Given the description of an element on the screen output the (x, y) to click on. 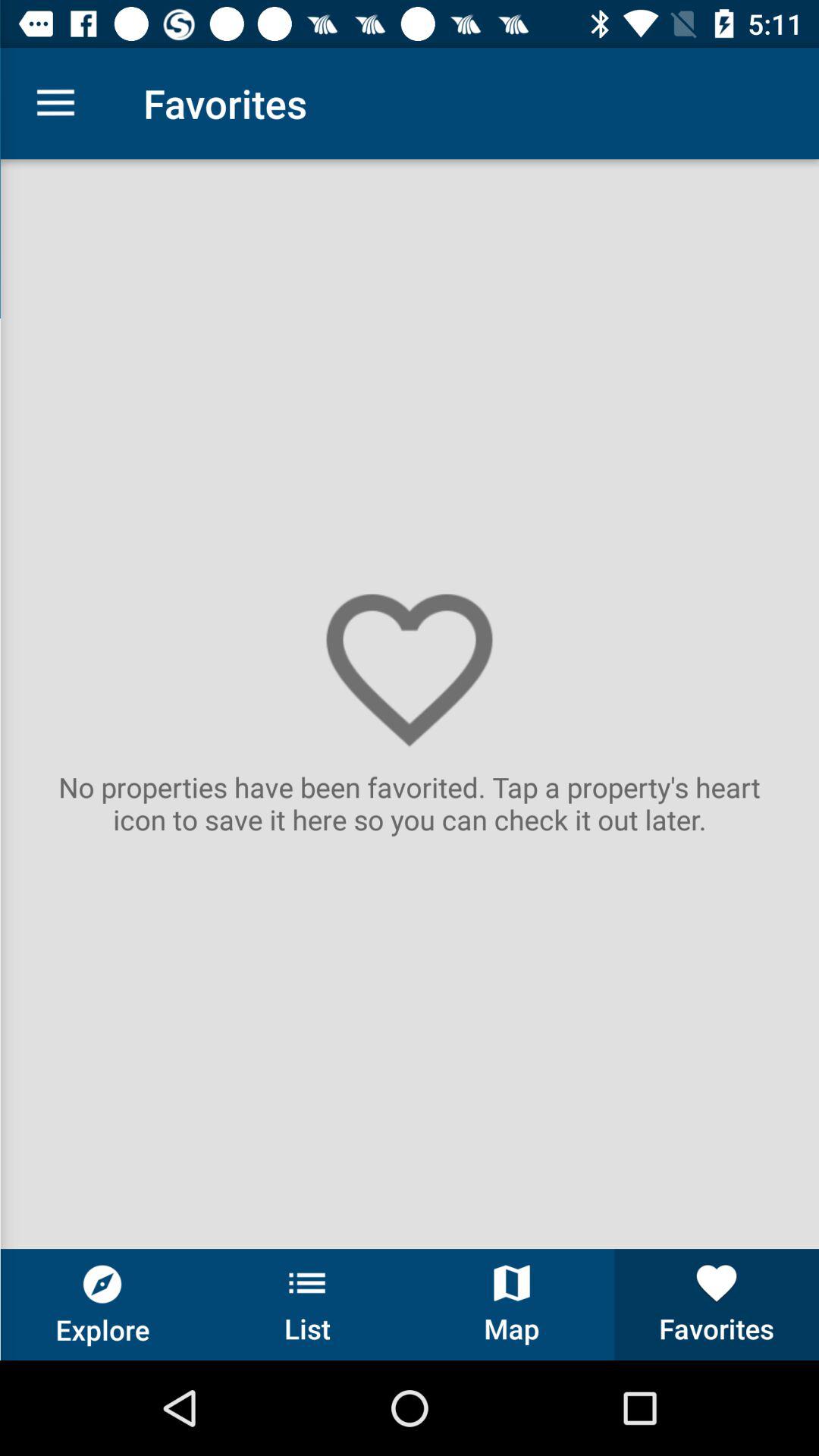
jump until the explore button (102, 1304)
